Given the description of an element on the screen output the (x, y) to click on. 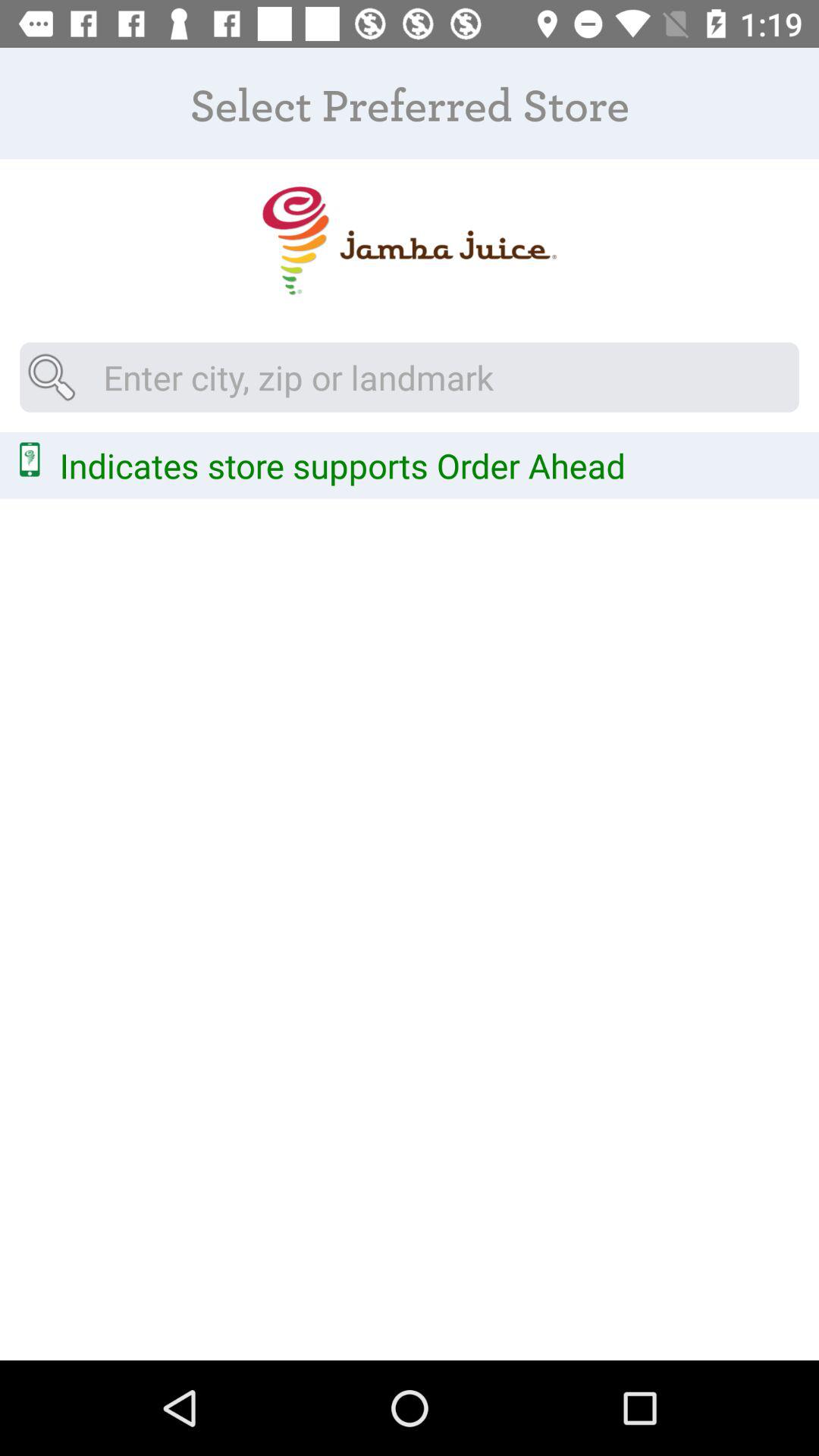
open store page (408, 240)
